Given the description of an element on the screen output the (x, y) to click on. 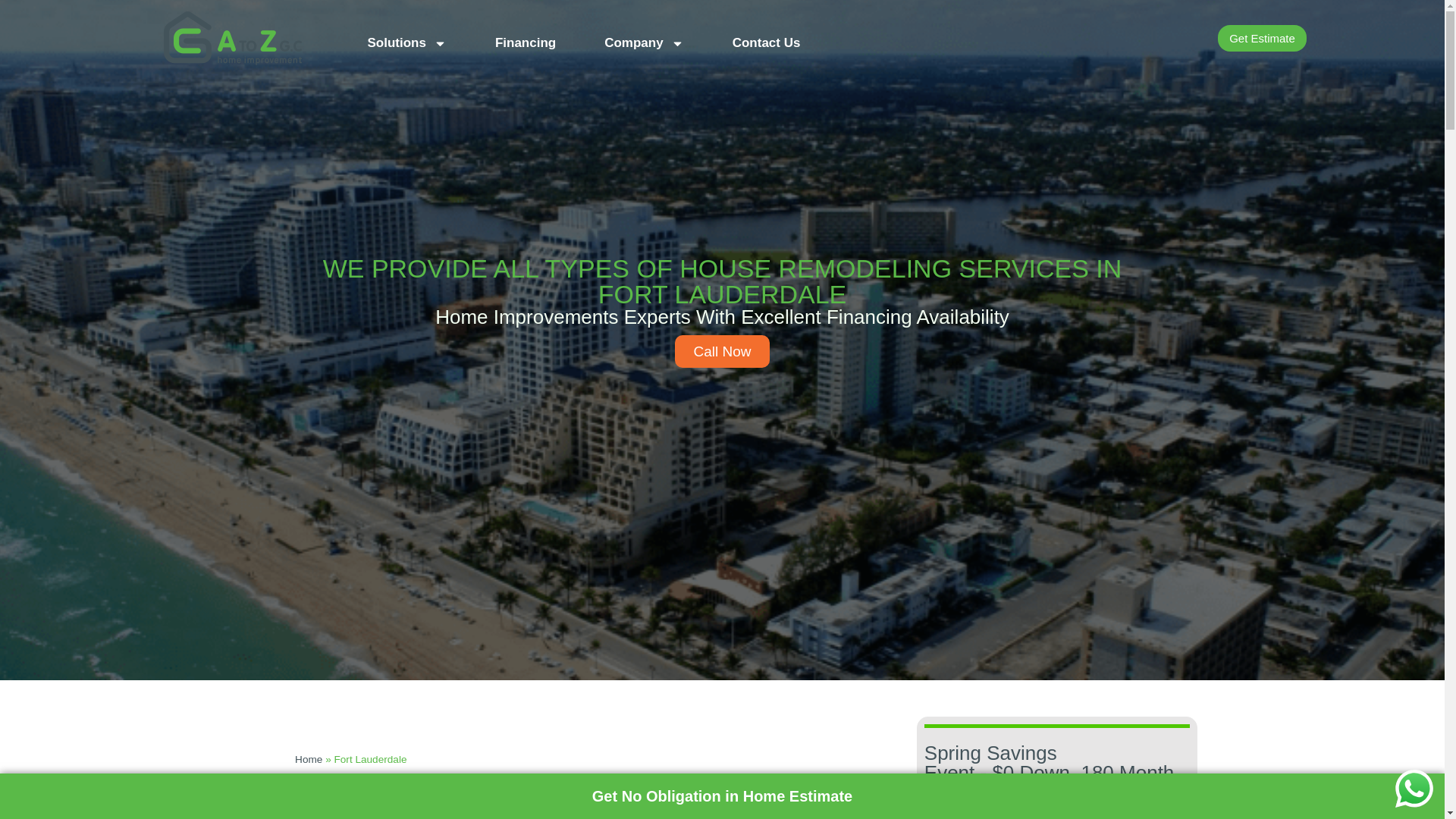
Contact Us (766, 38)
Chat (1413, 788)
Get Estimate (1261, 38)
Solutions (406, 38)
Financing (525, 38)
Company (643, 38)
